Given the description of an element on the screen output the (x, y) to click on. 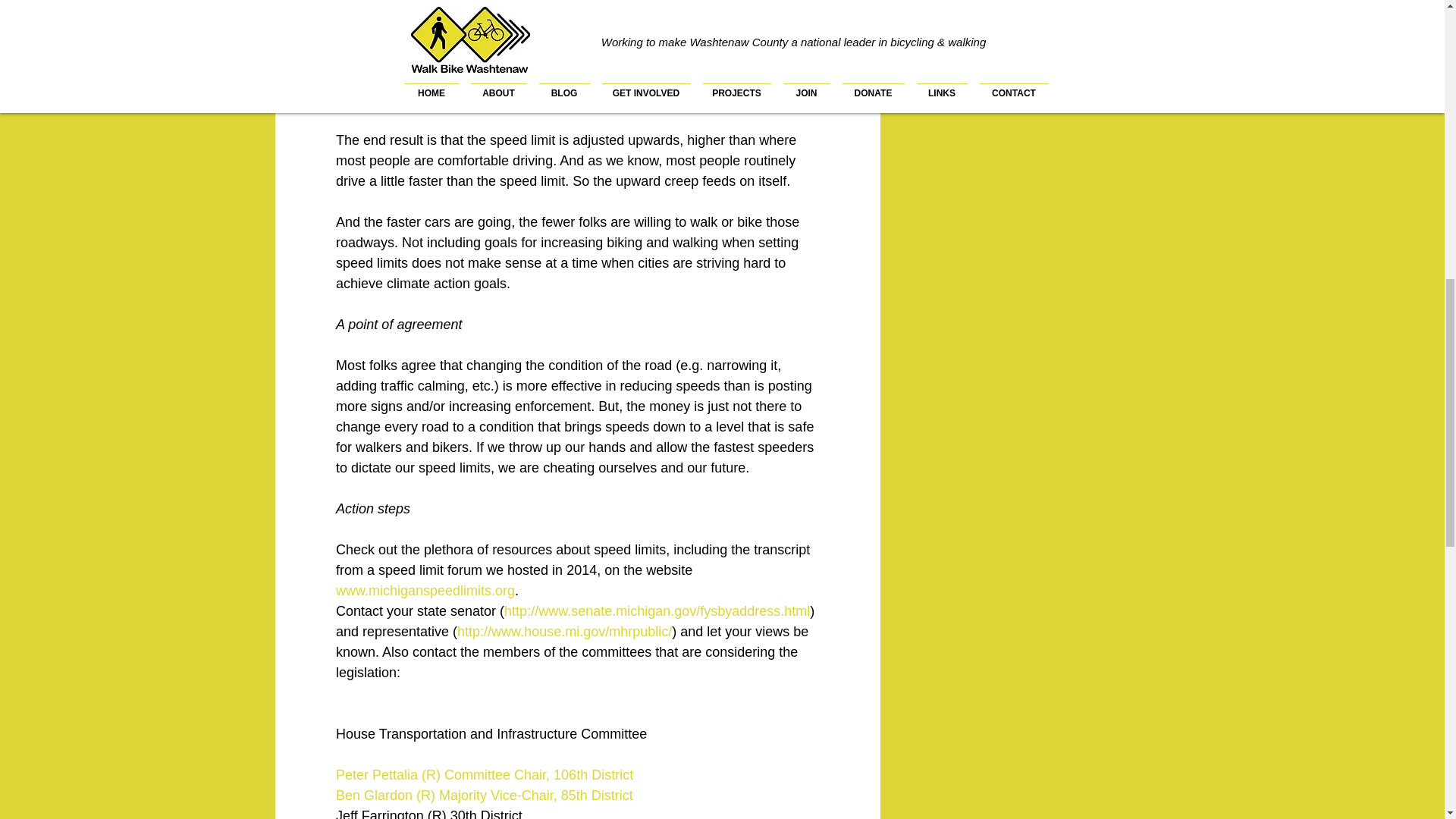
www.michiganspeedlimits.org (423, 589)
